Given the description of an element on the screen output the (x, y) to click on. 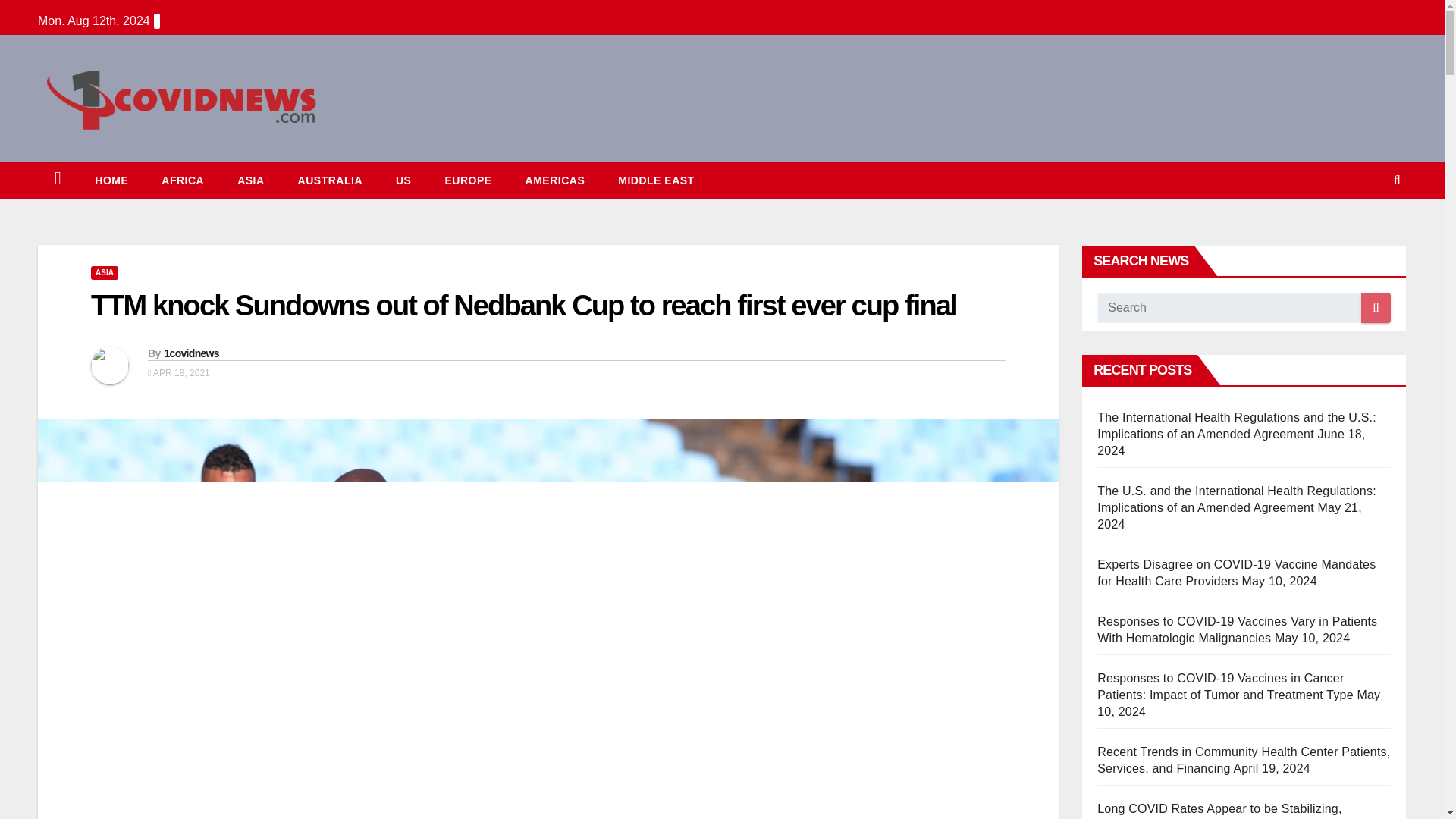
MIDDLE EAST (655, 180)
AFRICA (182, 180)
EUROPE (468, 180)
AUSTRALIA (329, 180)
1covidnews (190, 353)
ASIA (103, 273)
ASIA (251, 180)
US (403, 180)
